Given the description of an element on the screen output the (x, y) to click on. 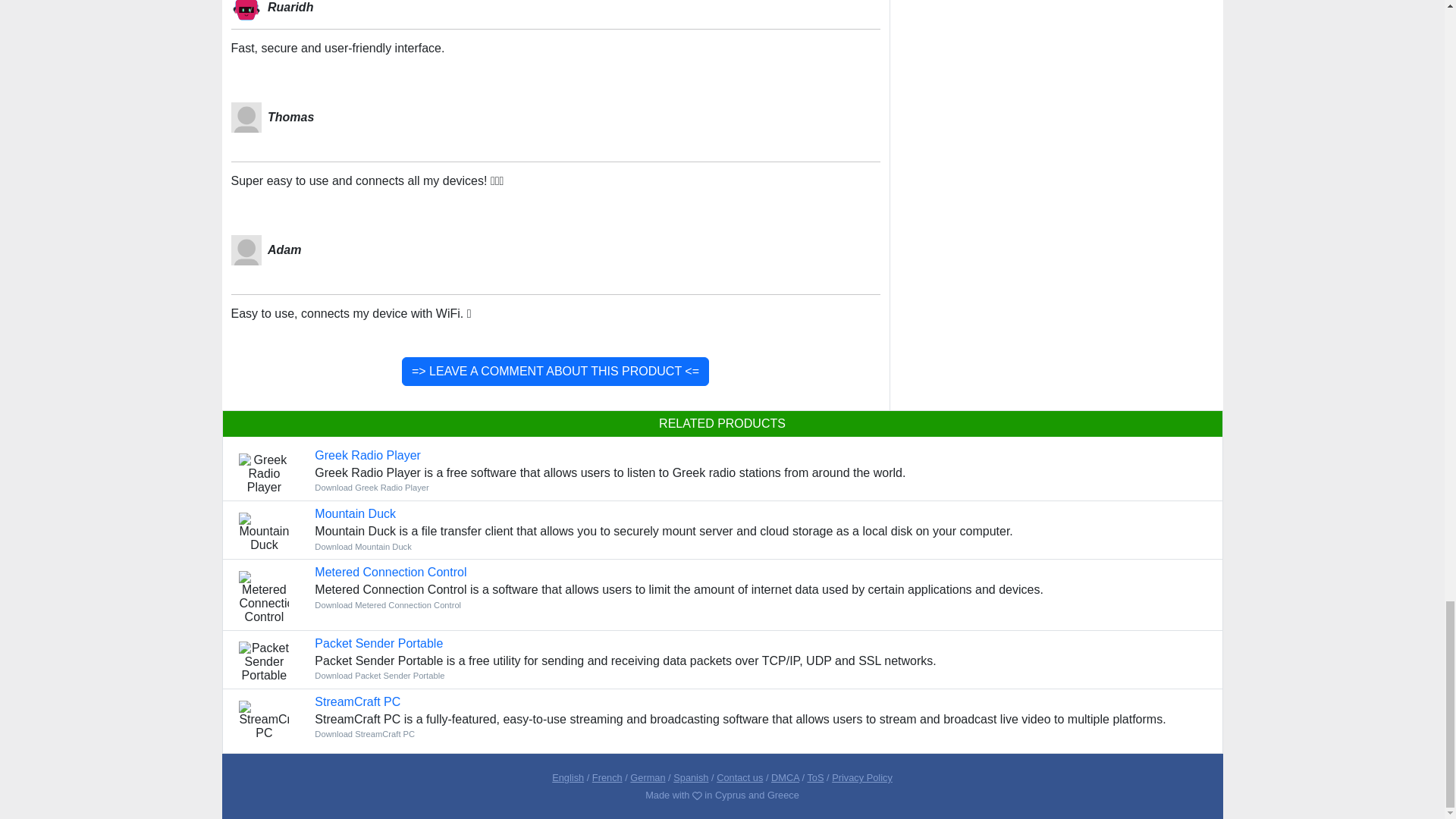
Download StreamCraft PC (364, 733)
ToS (815, 777)
Download Greek Radio Player (367, 454)
Mountain Duck (355, 513)
Packet Sender Portable (378, 643)
Download Mountain Duck (362, 546)
Contact us (739, 777)
Spanish (689, 777)
Download Metered Connection Control (387, 604)
StreamCraft PC (357, 701)
